Given the description of an element on the screen output the (x, y) to click on. 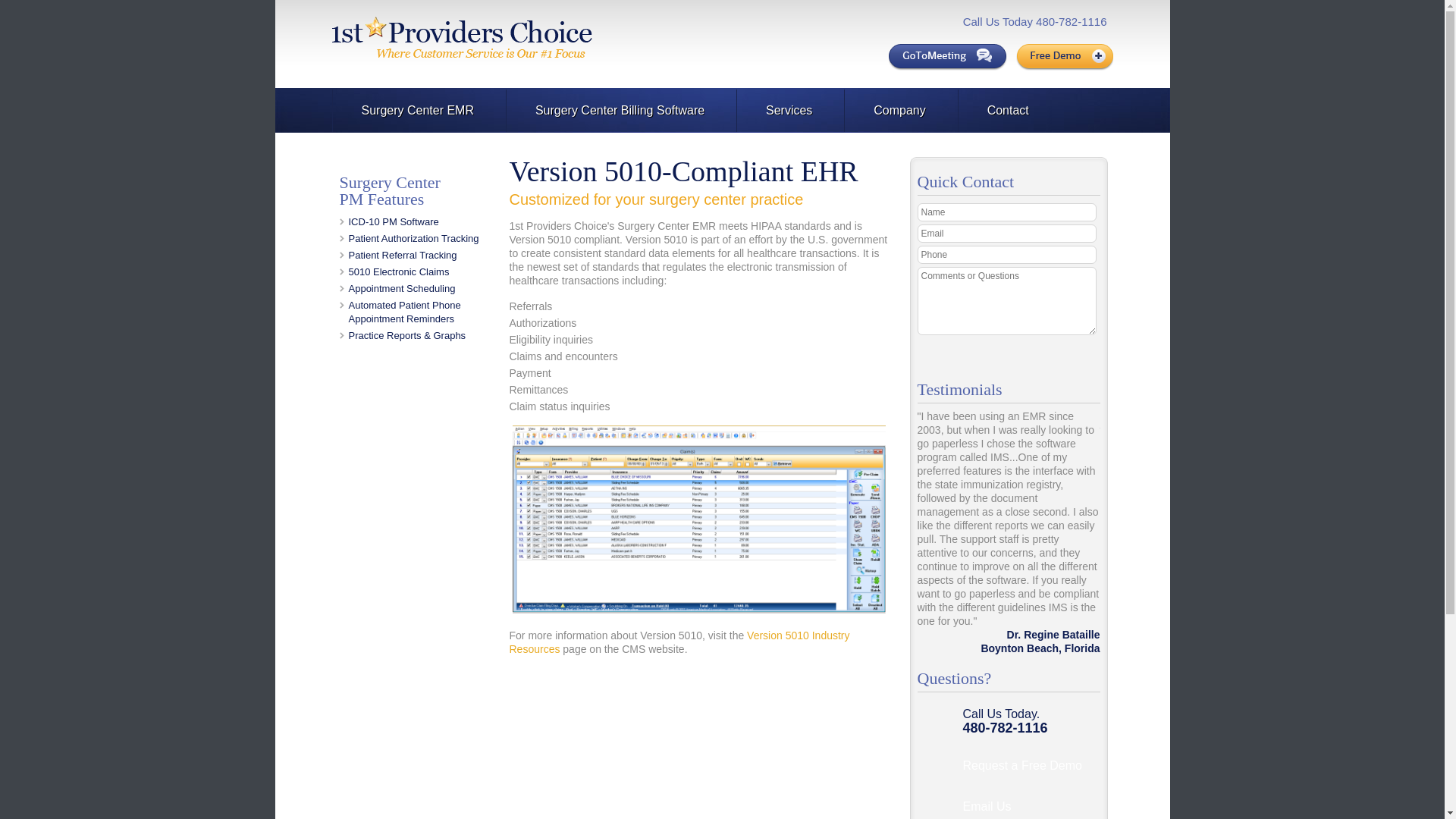
ICD-10 PM Software (394, 221)
Services (788, 110)
Automated Patient Phone Appointment Reminders (405, 311)
Version 5010 Industry Resources (679, 642)
5010 Electronic Claims (399, 271)
Appointment Scheduling (402, 288)
send (1068, 354)
Contact (1008, 110)
Patient Authorization Tracking (414, 238)
Request a Free Demo (1025, 768)
send (1068, 354)
podiatry ehr software (394, 221)
Patient Referral Tracking (403, 255)
Company (898, 110)
Surgery Center Billing Software (619, 110)
